Given the description of an element on the screen output the (x, y) to click on. 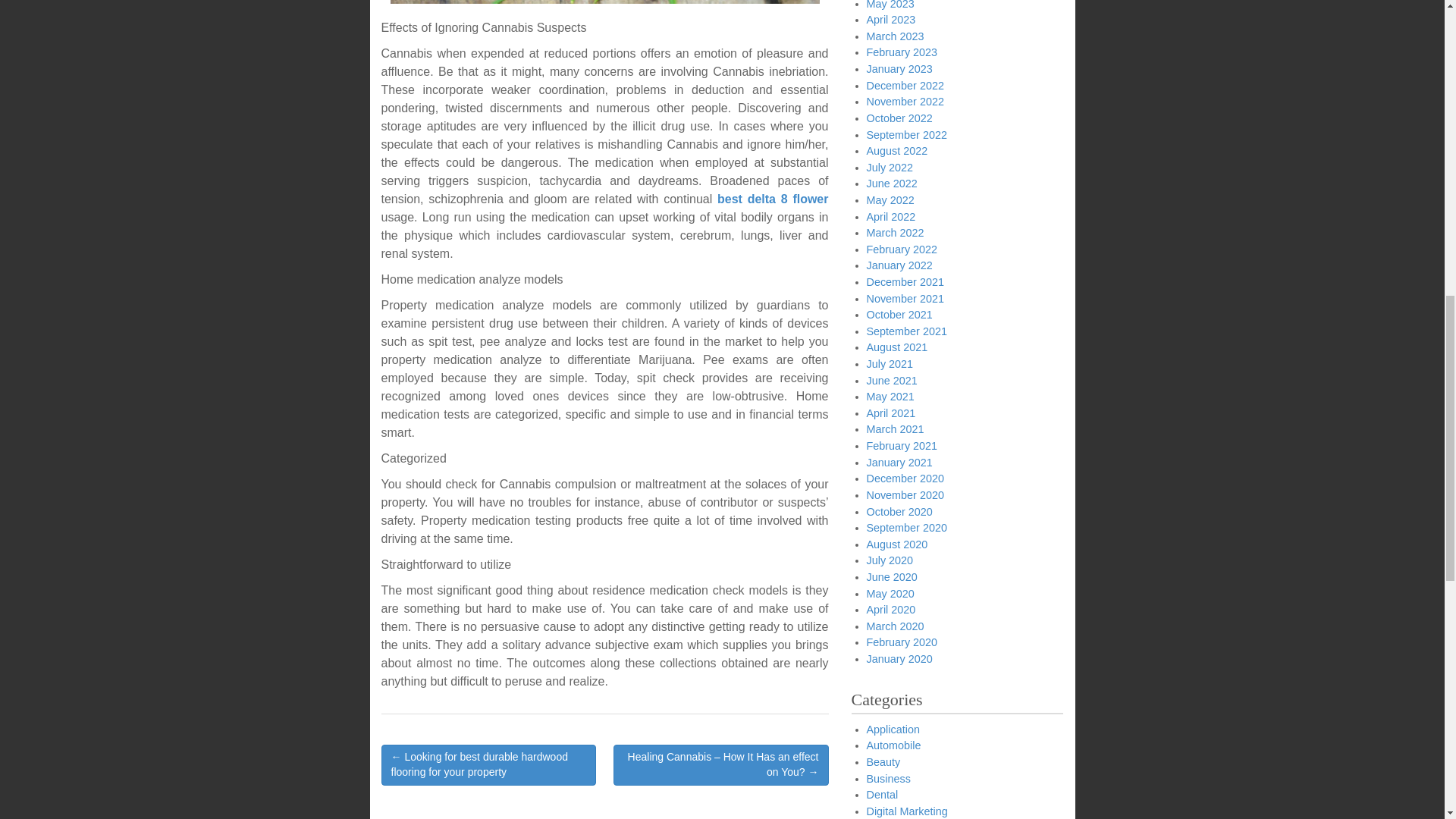
December 2022 (904, 85)
April 2023 (890, 19)
January 2023 (898, 69)
February 2023 (901, 51)
May 2023 (890, 4)
March 2023 (894, 36)
best delta 8 flower (772, 198)
